Given the description of an element on the screen output the (x, y) to click on. 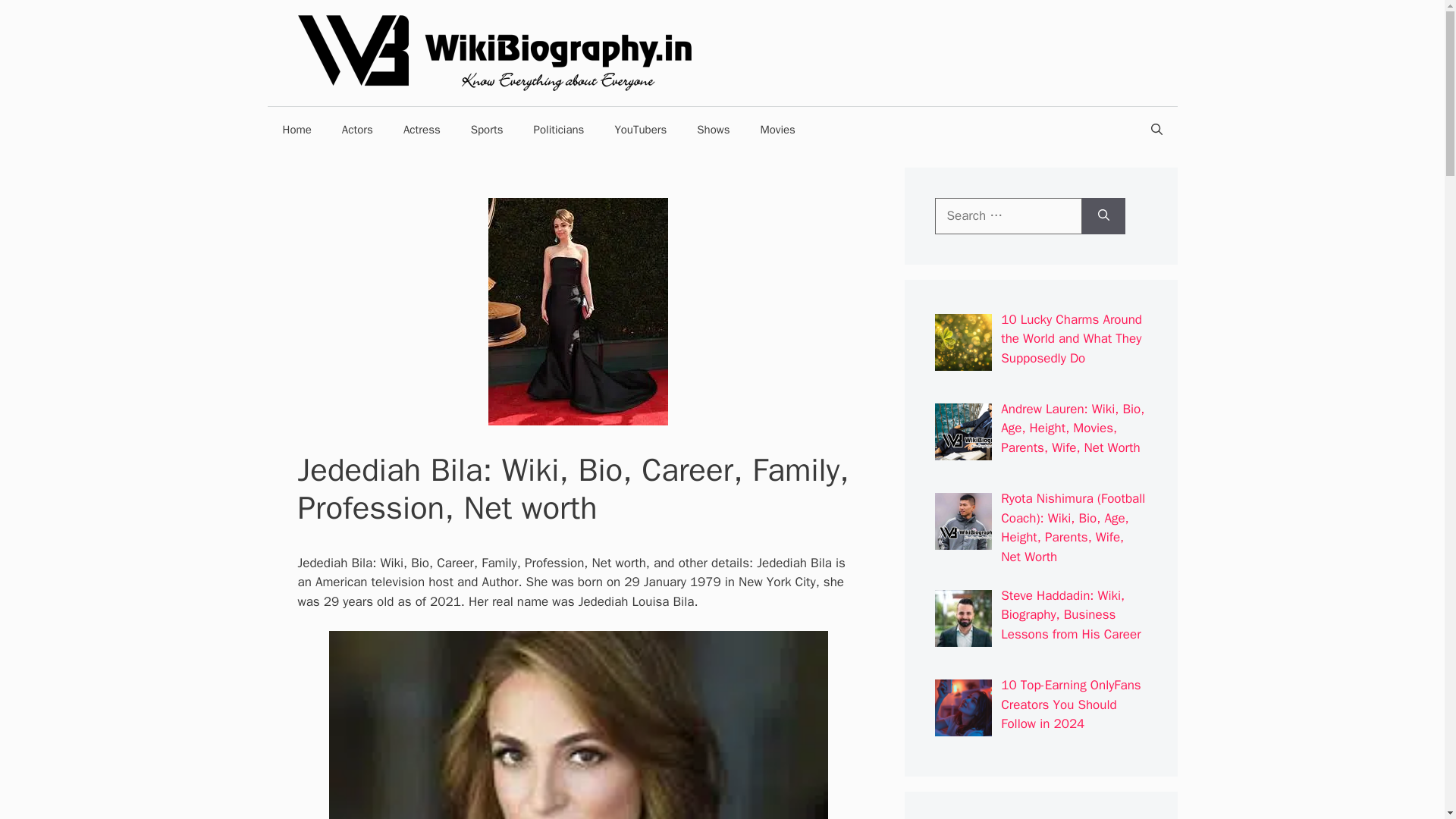
Home (296, 129)
Search for: (1007, 216)
YouTubers (639, 129)
Actress (421, 129)
Politicians (558, 129)
Actors (357, 129)
Sports (486, 129)
Movies (776, 129)
10 Lucky Charms Around the World and What They Supposedly Do (1071, 338)
